Given the description of an element on the screen output the (x, y) to click on. 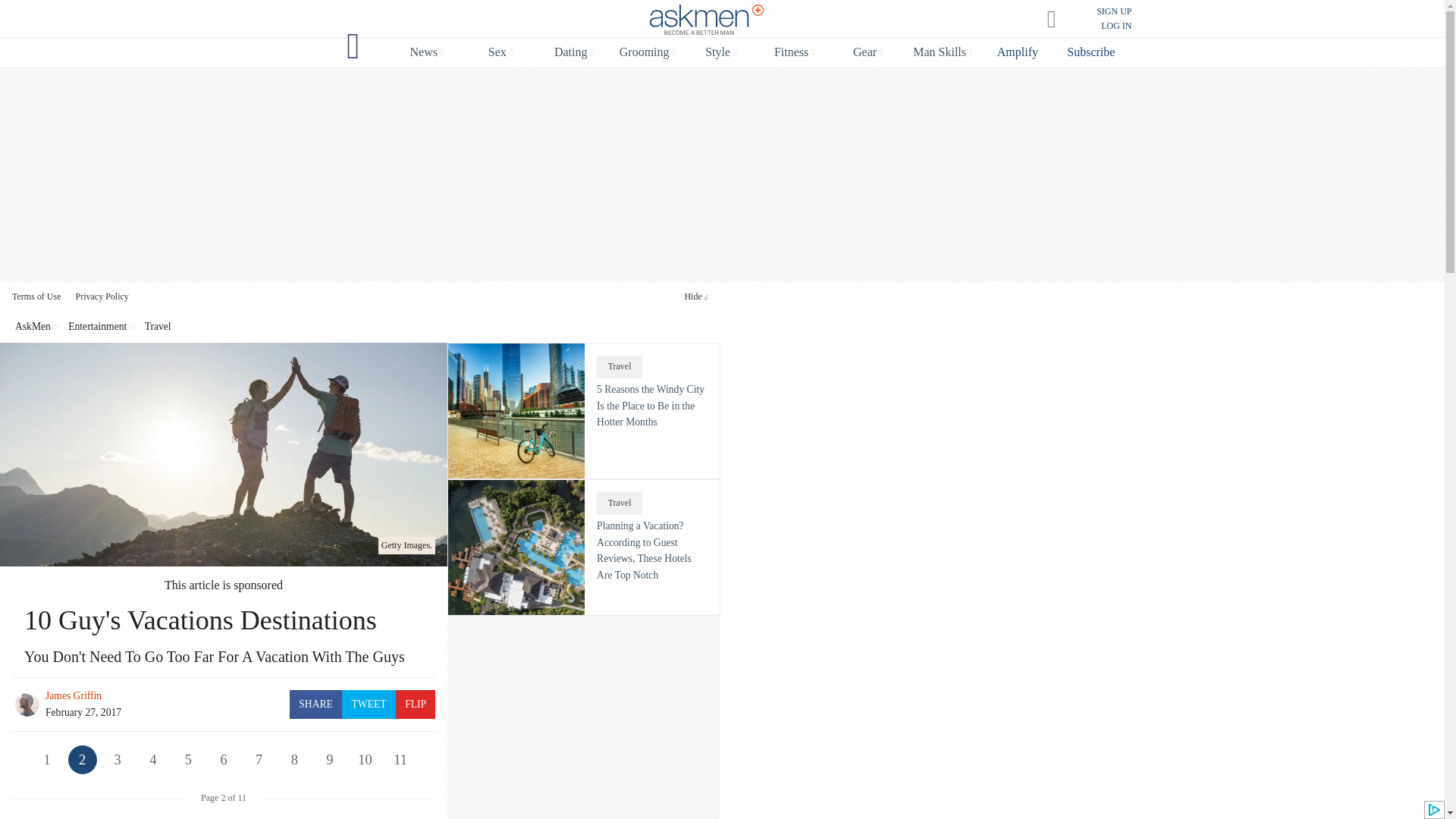
SIGN UP (1113, 11)
GuyQ (352, 45)
AskMen (706, 20)
LOG IN (1115, 25)
